Given the description of an element on the screen output the (x, y) to click on. 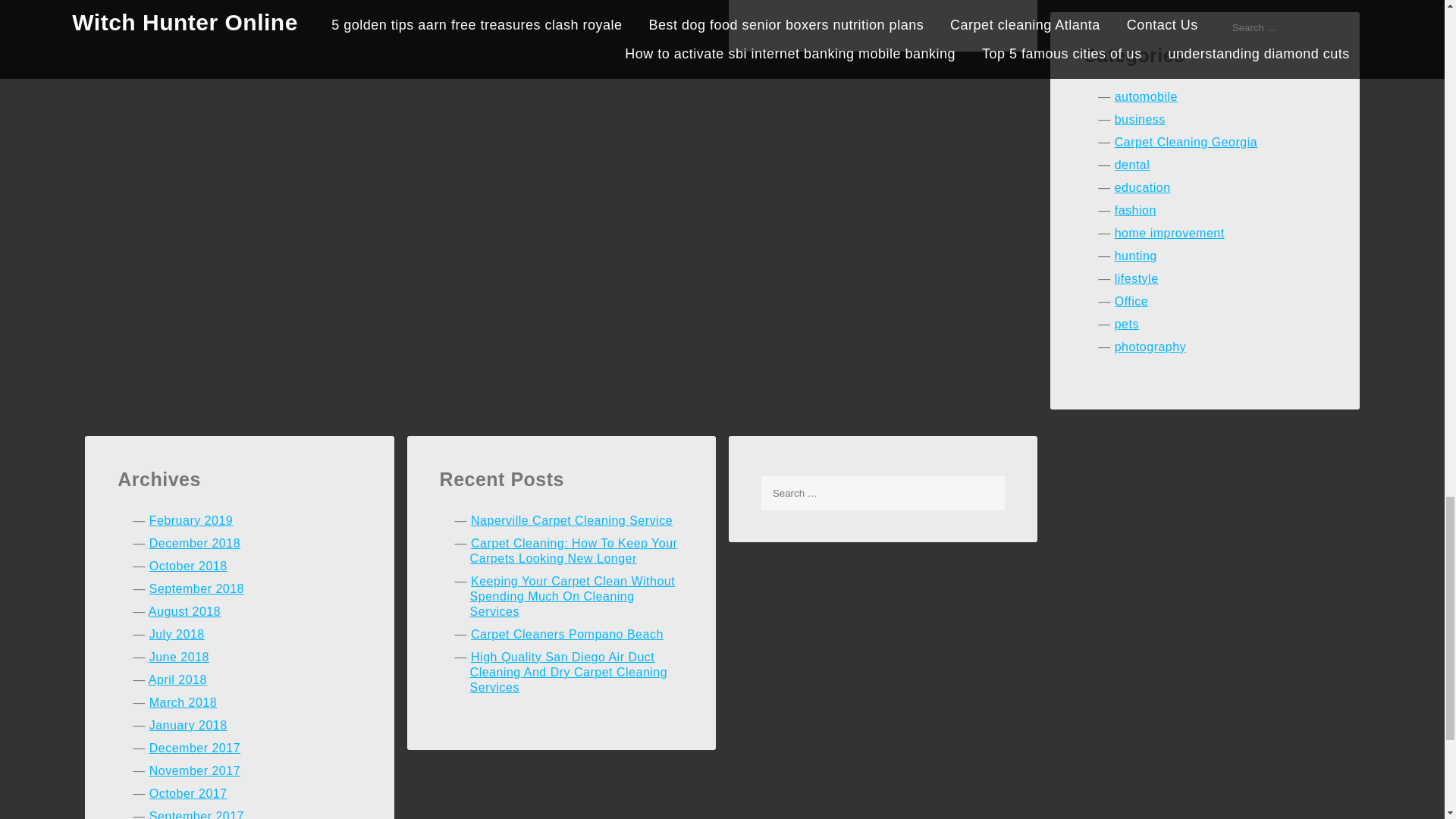
Carpet Cleaning Georgia (1186, 141)
lifestyle (1136, 278)
December 2018 (194, 543)
education (1142, 187)
automobile (1146, 96)
October 2018 (188, 565)
fashion (1135, 210)
Office (1131, 300)
September 2018 (196, 588)
business (1140, 119)
